Given the description of an element on the screen output the (x, y) to click on. 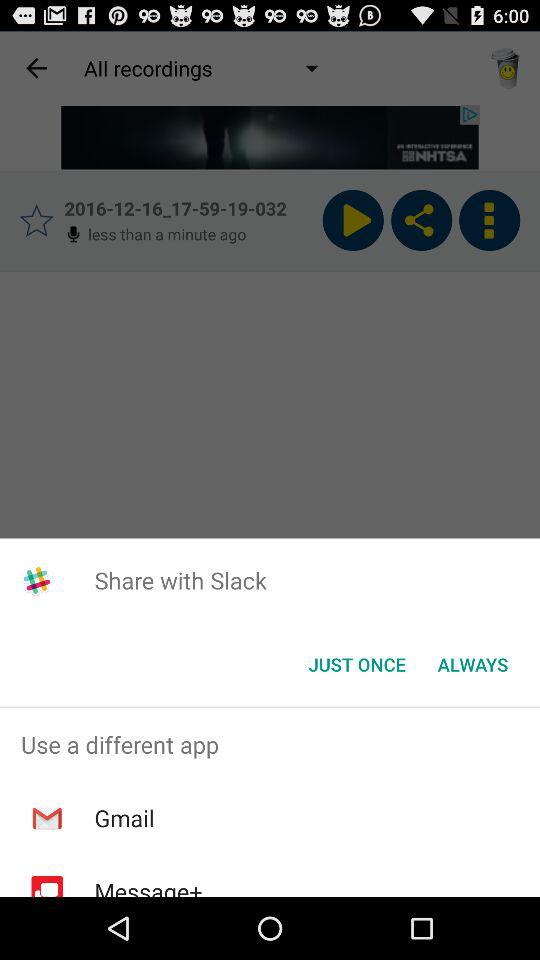
flip until always button (472, 664)
